Given the description of an element on the screen output the (x, y) to click on. 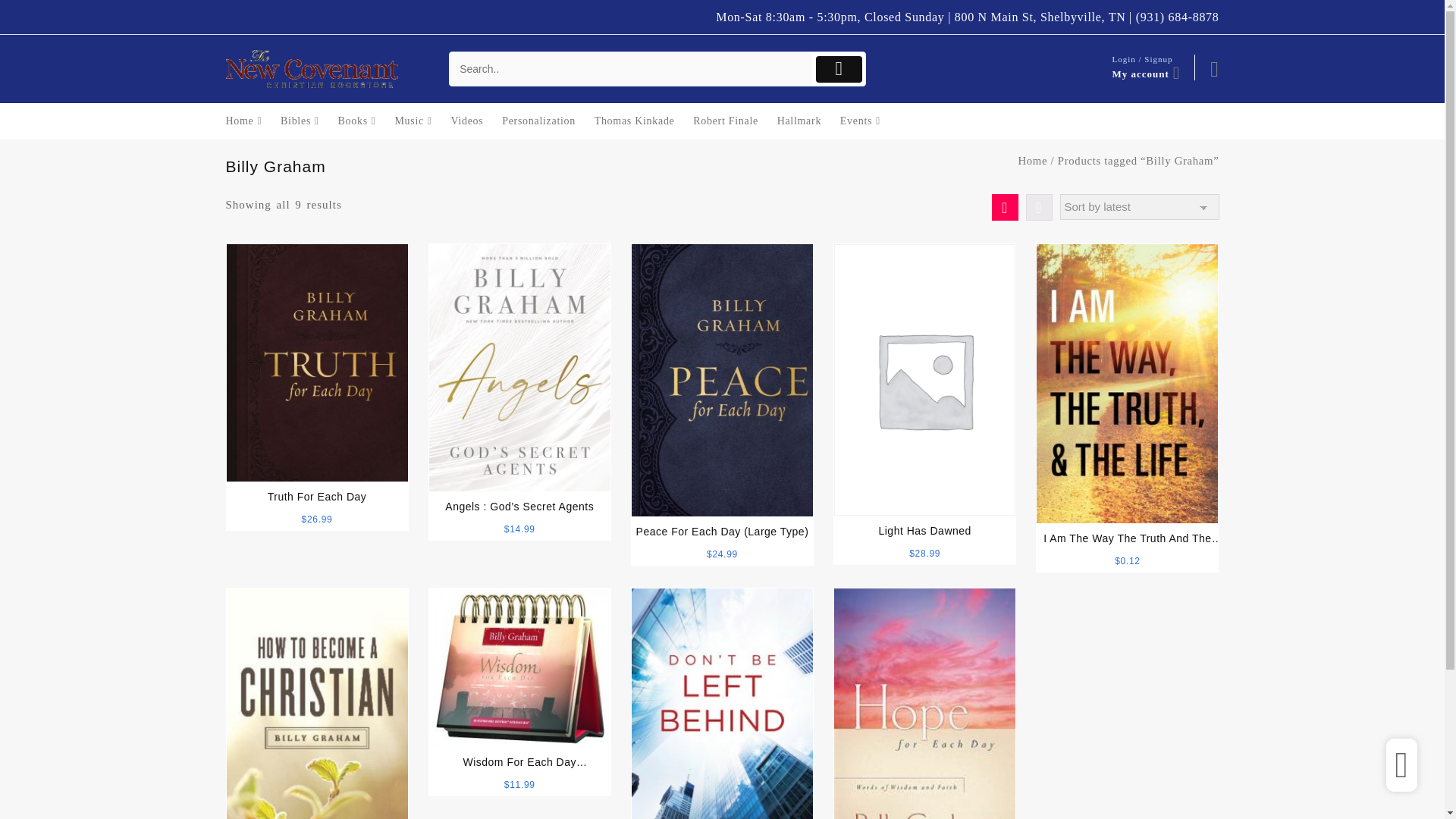
List View (1038, 207)
Search (630, 69)
Submit (838, 69)
Grid View (1004, 207)
800 N Main St, Shelbyville, TN (1040, 16)
